Given the description of an element on the screen output the (x, y) to click on. 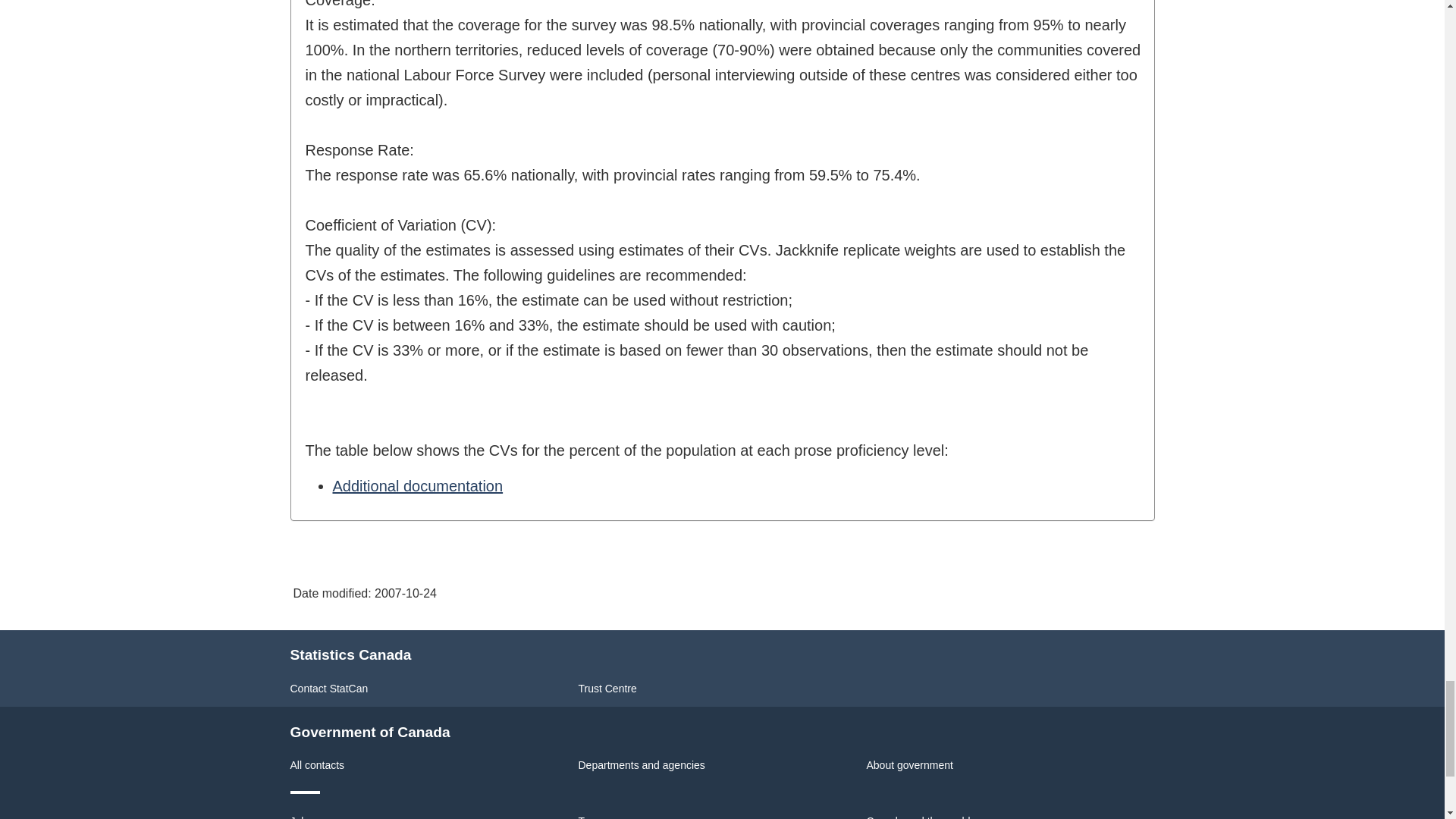
Trust Centre (607, 688)
Departments and agencies (641, 765)
Jobs (301, 816)
Contact StatCan (328, 688)
About government (909, 765)
Data accuracy - Additional documentation (416, 485)
All contacts (316, 765)
Additional documentation (416, 485)
